Given the description of an element on the screen output the (x, y) to click on. 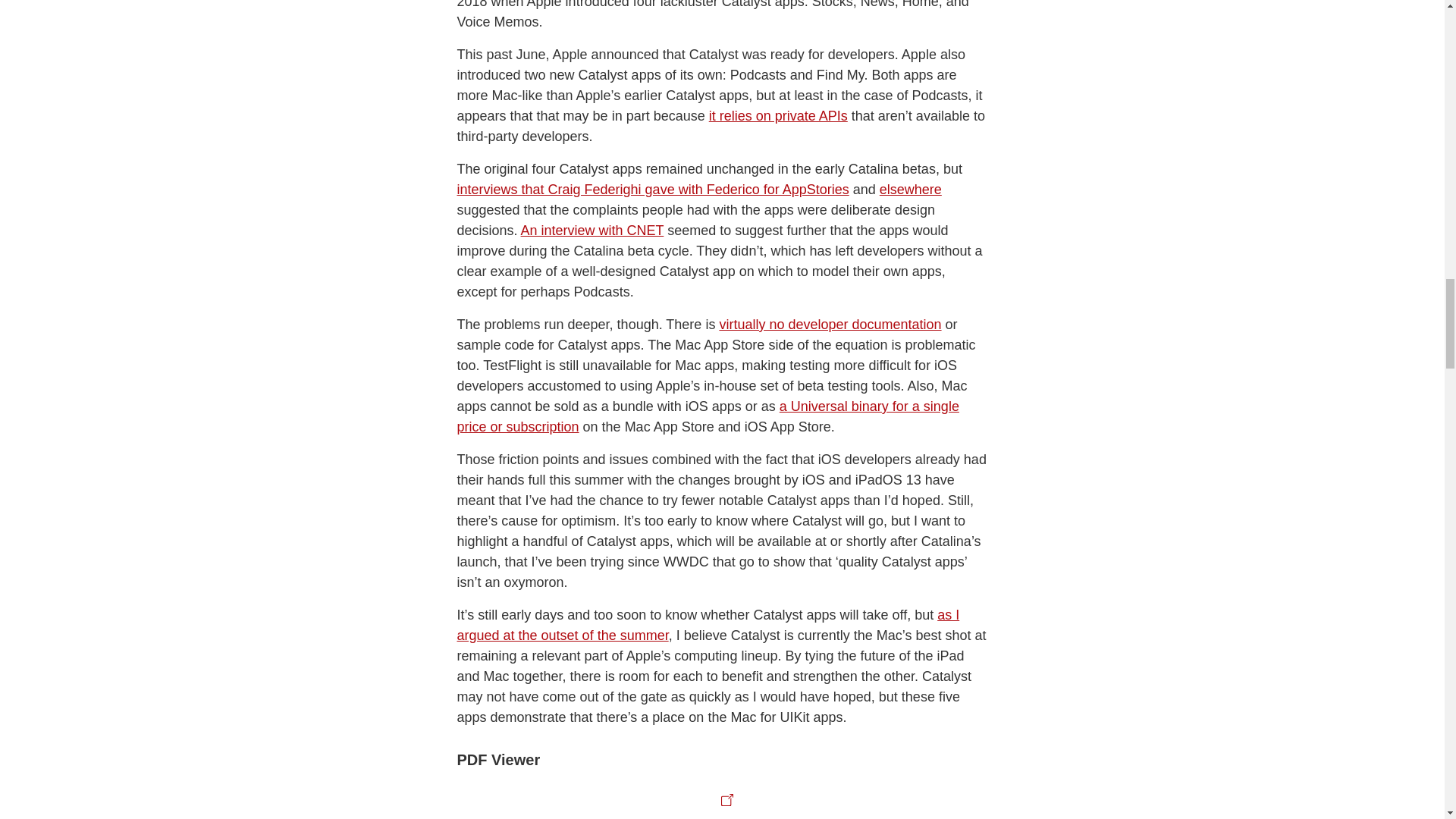
as I argued at the outset of the summer (708, 624)
An interview with CNET (592, 230)
virtually no developer documentation (829, 324)
a Universal binary for a single price or subscription (707, 416)
elsewhere (910, 189)
it relies on private APIs (778, 115)
